Given the description of an element on the screen output the (x, y) to click on. 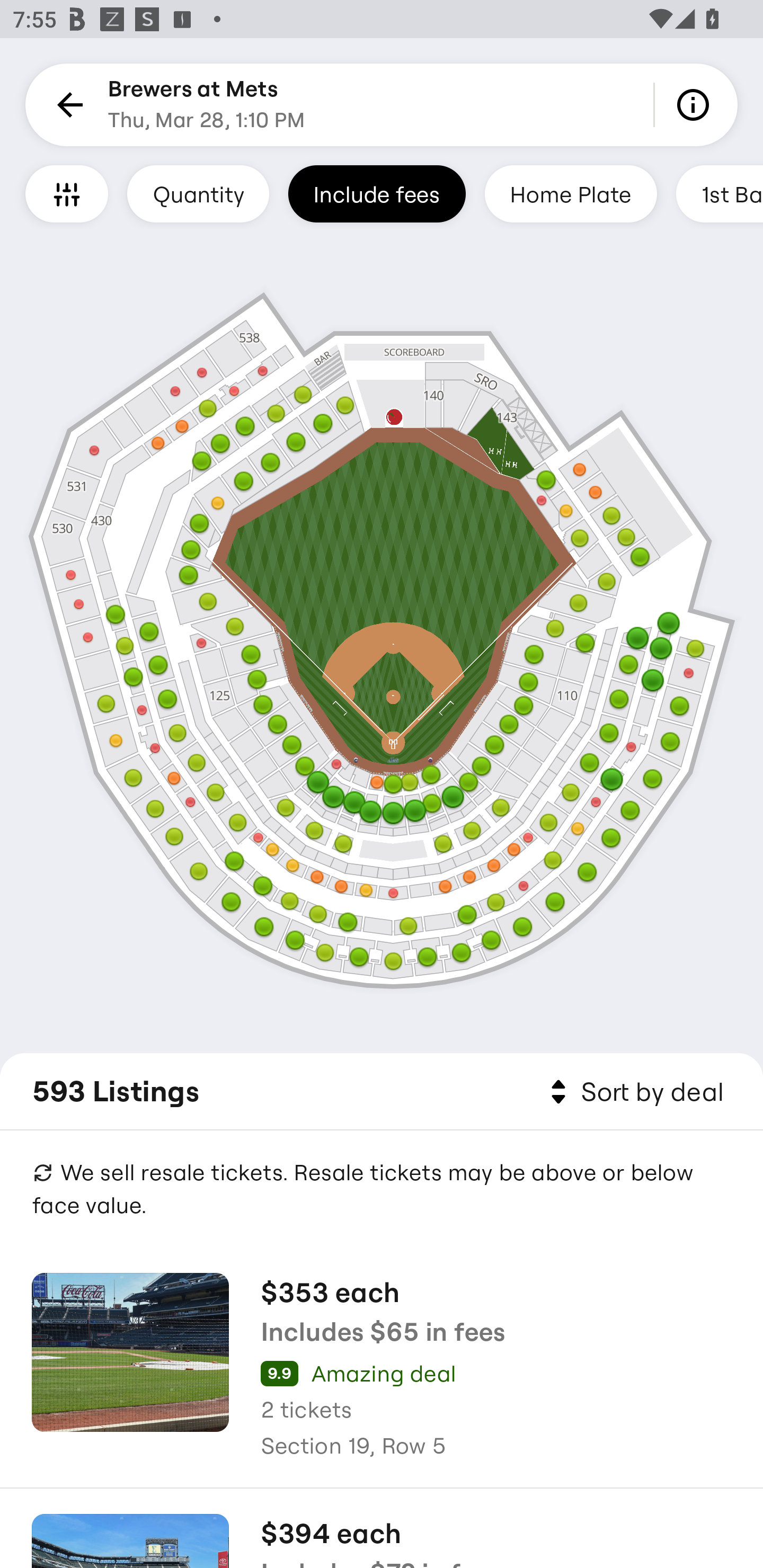
Back (66, 104)
Brewers at Mets Thu, Mar 28, 1:10 PM (206, 104)
Info (695, 104)
Filters and Accessible Seating (66, 193)
Quantity (198, 193)
Include fees (376, 193)
Home Plate (570, 193)
Sort by deal (633, 1091)
